Given the description of an element on the screen output the (x, y) to click on. 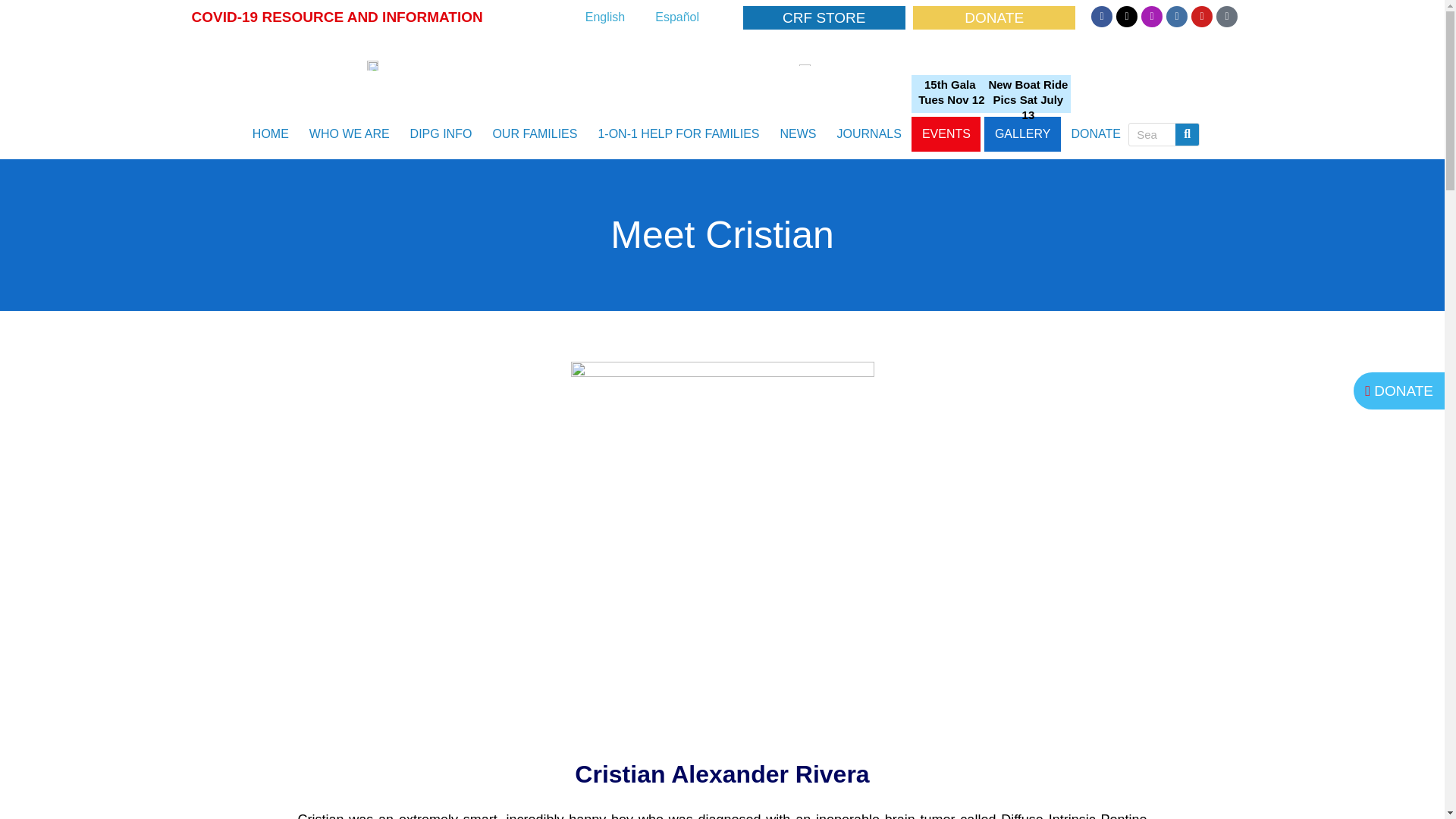
CRF STORE (823, 17)
Spanish (677, 17)
COVID-19 RESOURCE AND INFORMATION (335, 17)
English (605, 17)
DONATE (993, 17)
English (605, 17)
DIPG INFO (441, 134)
HOME (270, 134)
WHO WE ARE (349, 134)
